Given the description of an element on the screen output the (x, y) to click on. 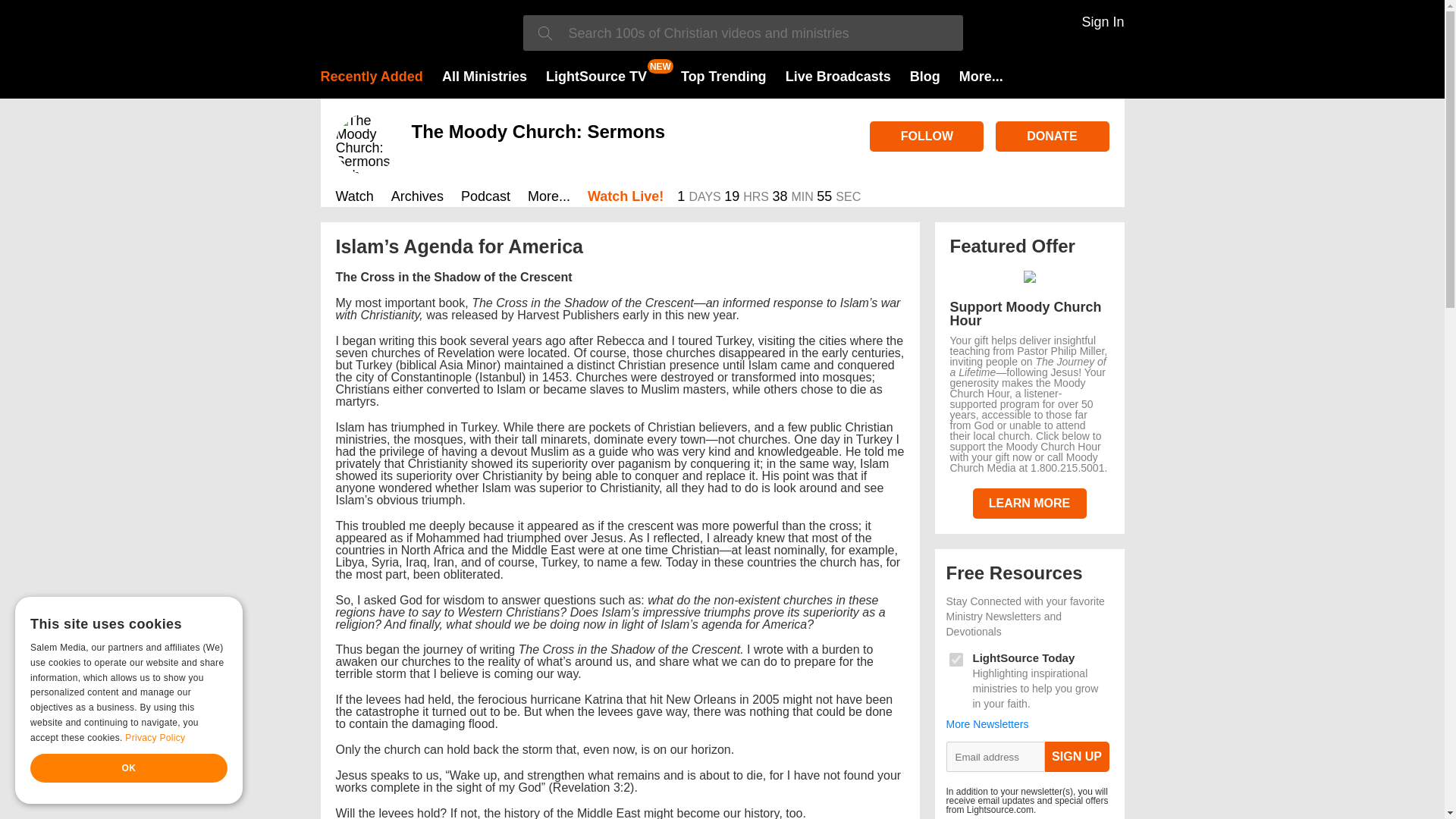
Blog (925, 76)
The Moody Church: Sermons (537, 131)
Podcast (486, 198)
Archives (417, 198)
Live Broadcasts (838, 76)
Top Trending (724, 76)
FOLLOW (926, 136)
More Newsletters (987, 724)
Recently Added (371, 76)
More... (548, 198)
LightSource TV (596, 76)
Watch Live! (625, 198)
SIGN UP (1077, 757)
More... (981, 76)
Watch (353, 198)
